Given the description of an element on the screen output the (x, y) to click on. 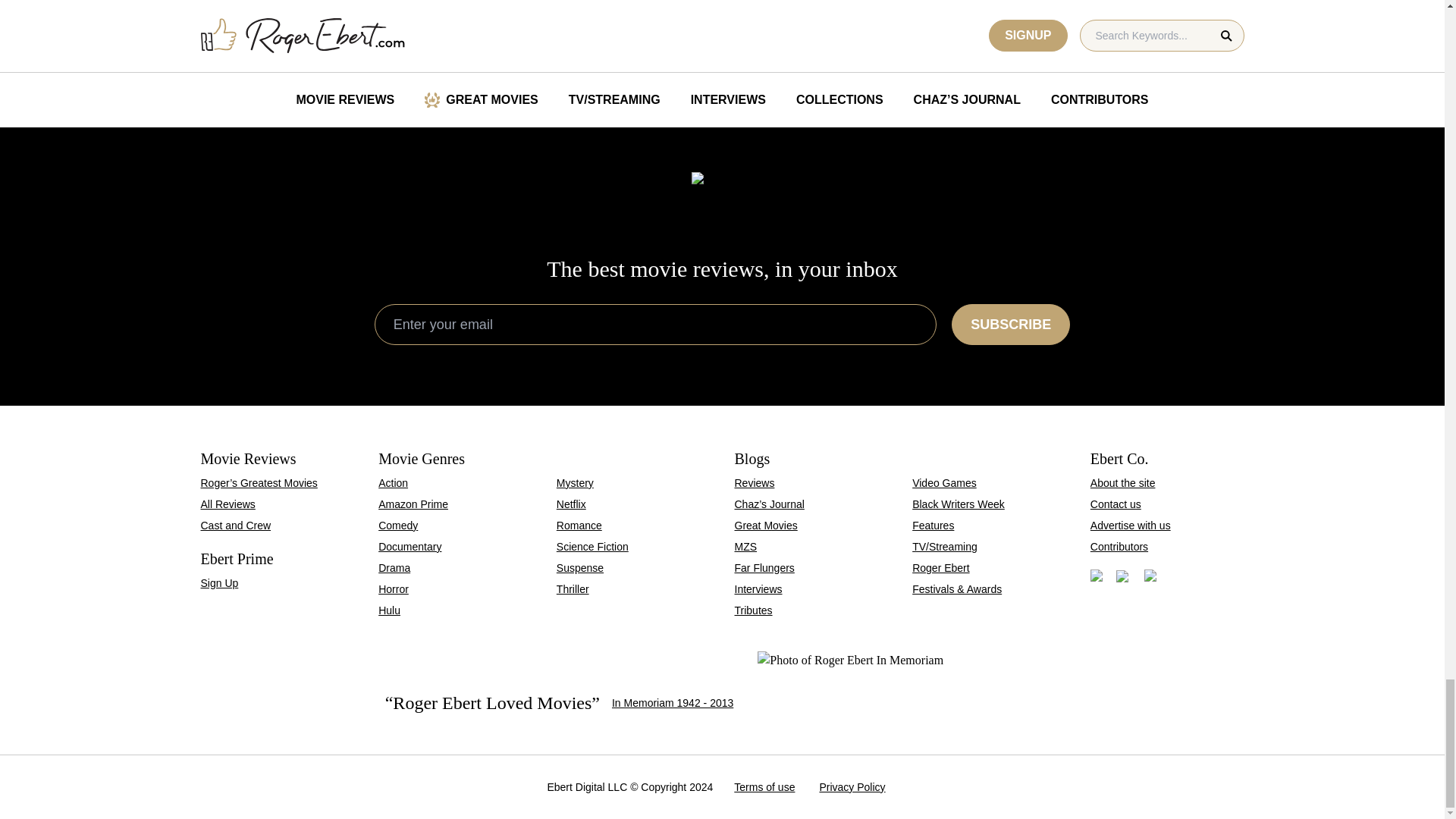
Horror (393, 589)
All Reviews (227, 503)
Hulu (389, 610)
Drama (394, 567)
Amazon Prime (413, 503)
Documentary (1122, 22)
Subscribe (409, 546)
Sign Up (1011, 323)
